Given the description of an element on the screen output the (x, y) to click on. 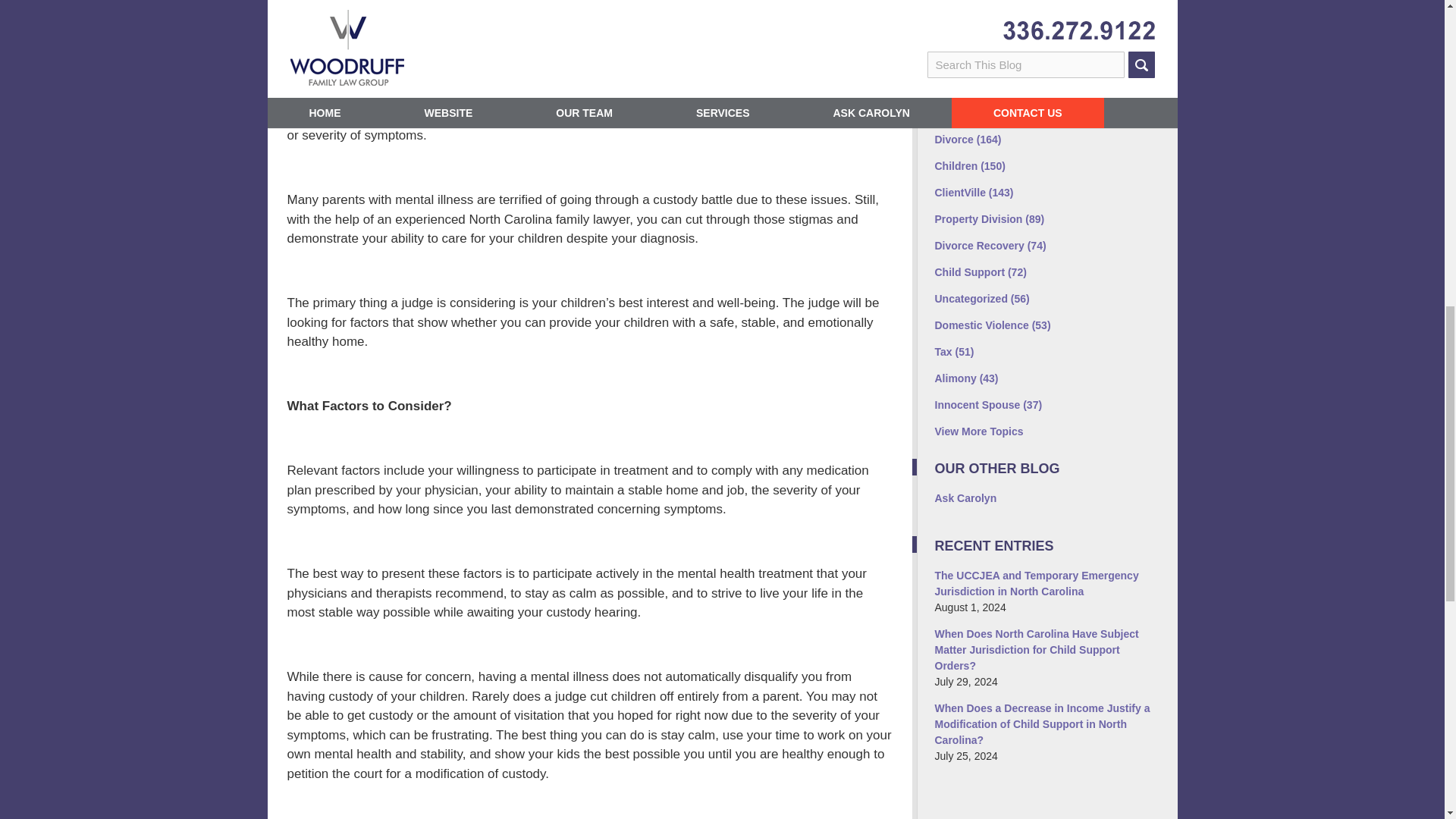
Twitter (981, 31)
Facebook (949, 31)
Justia (1044, 31)
LinkedIn (1012, 31)
